Given the description of an element on the screen output the (x, y) to click on. 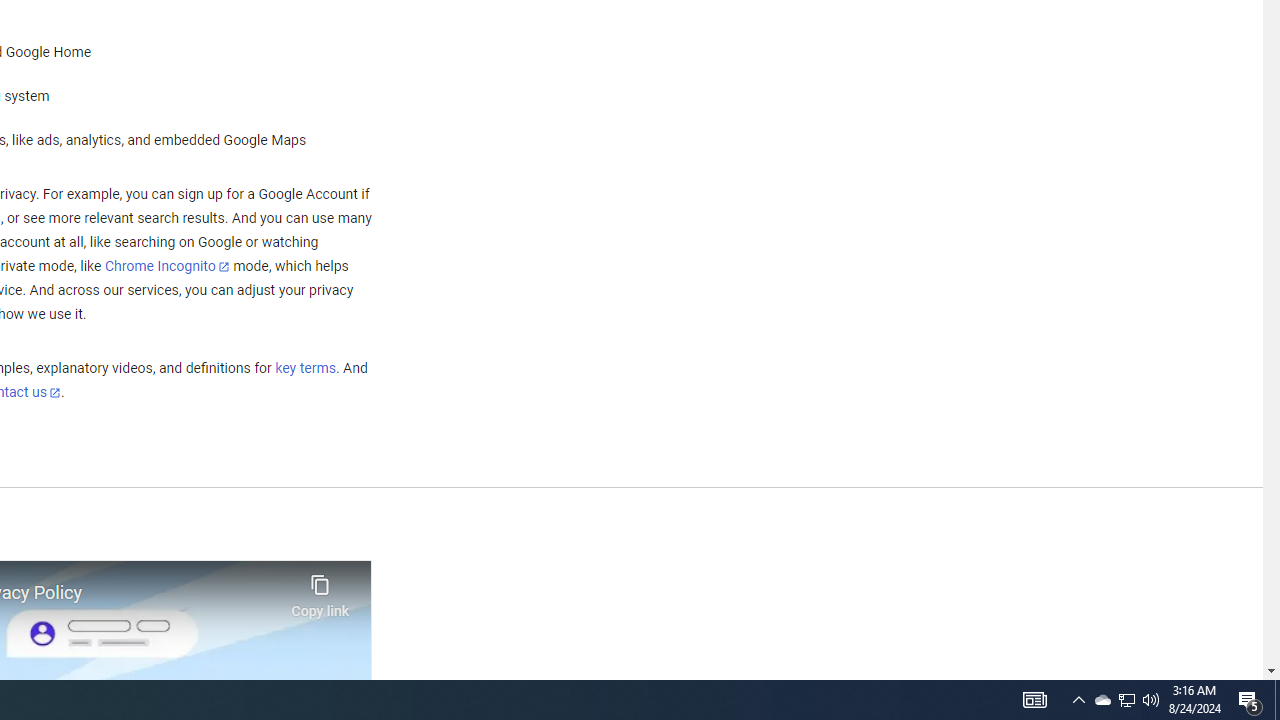
Copy link (319, 591)
Chrome Incognito (166, 266)
key terms (305, 369)
